Given the description of an element on the screen output the (x, y) to click on. 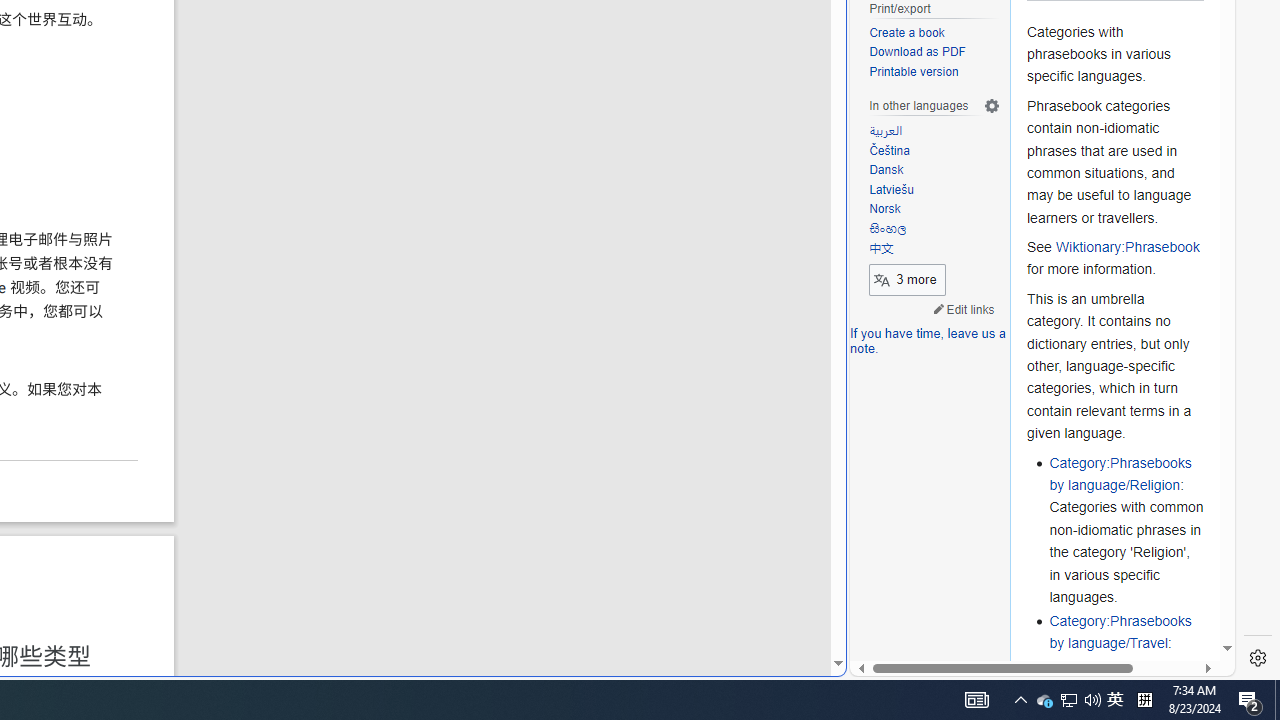
Create a book (934, 33)
Download as PDF (934, 53)
Language settings (992, 106)
3 more (907, 278)
Printable version (934, 71)
